Given the description of an element on the screen output the (x, y) to click on. 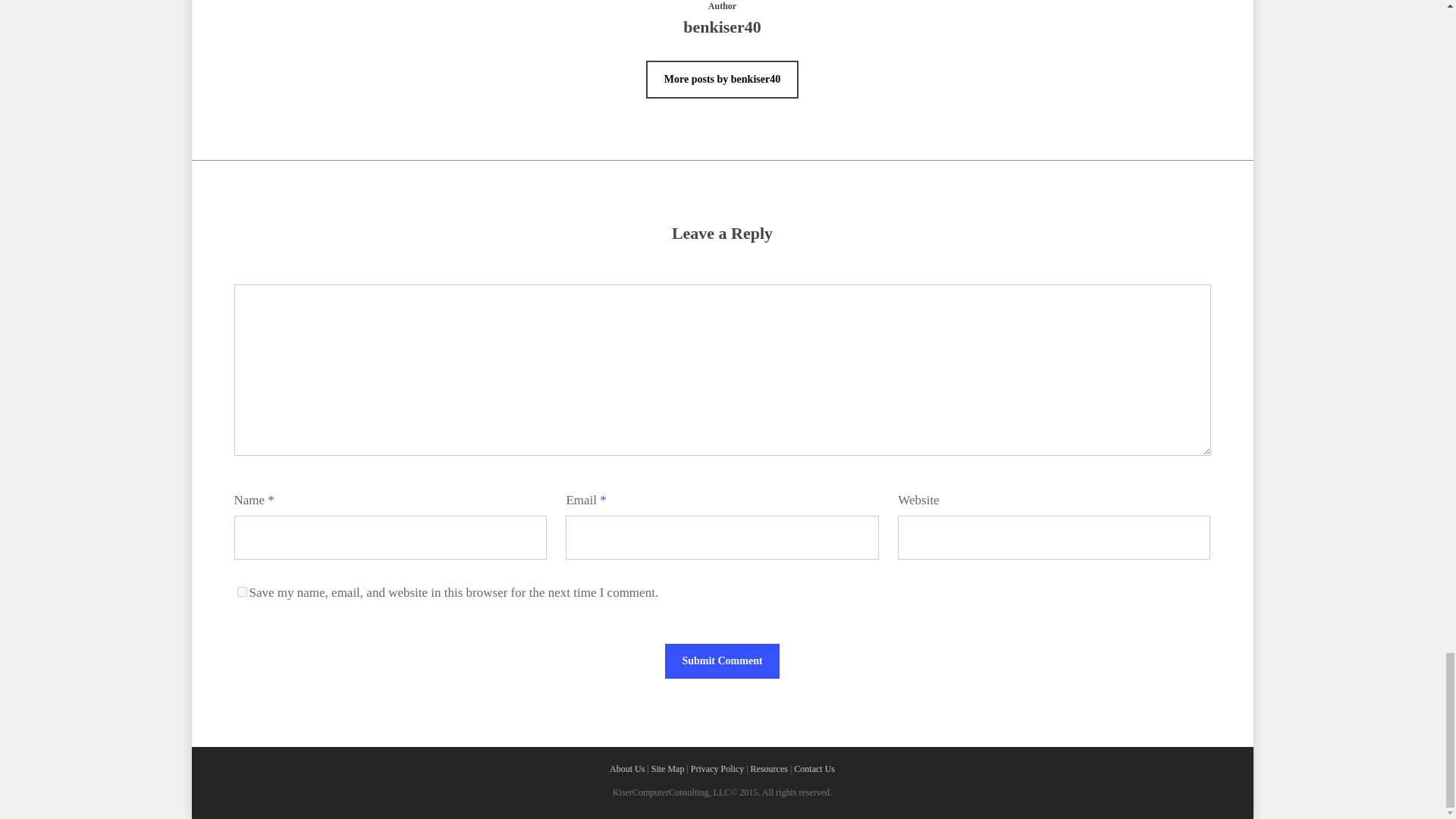
Products and Resources (769, 768)
About Us (627, 768)
Site Map (667, 768)
Privacy Policy (717, 768)
yes (240, 592)
Submit Comment (721, 660)
Site Map (667, 768)
Resources (769, 768)
Contact Us (813, 768)
Submit Comment (721, 660)
More posts by benkiser40 (721, 79)
